Given the description of an element on the screen output the (x, y) to click on. 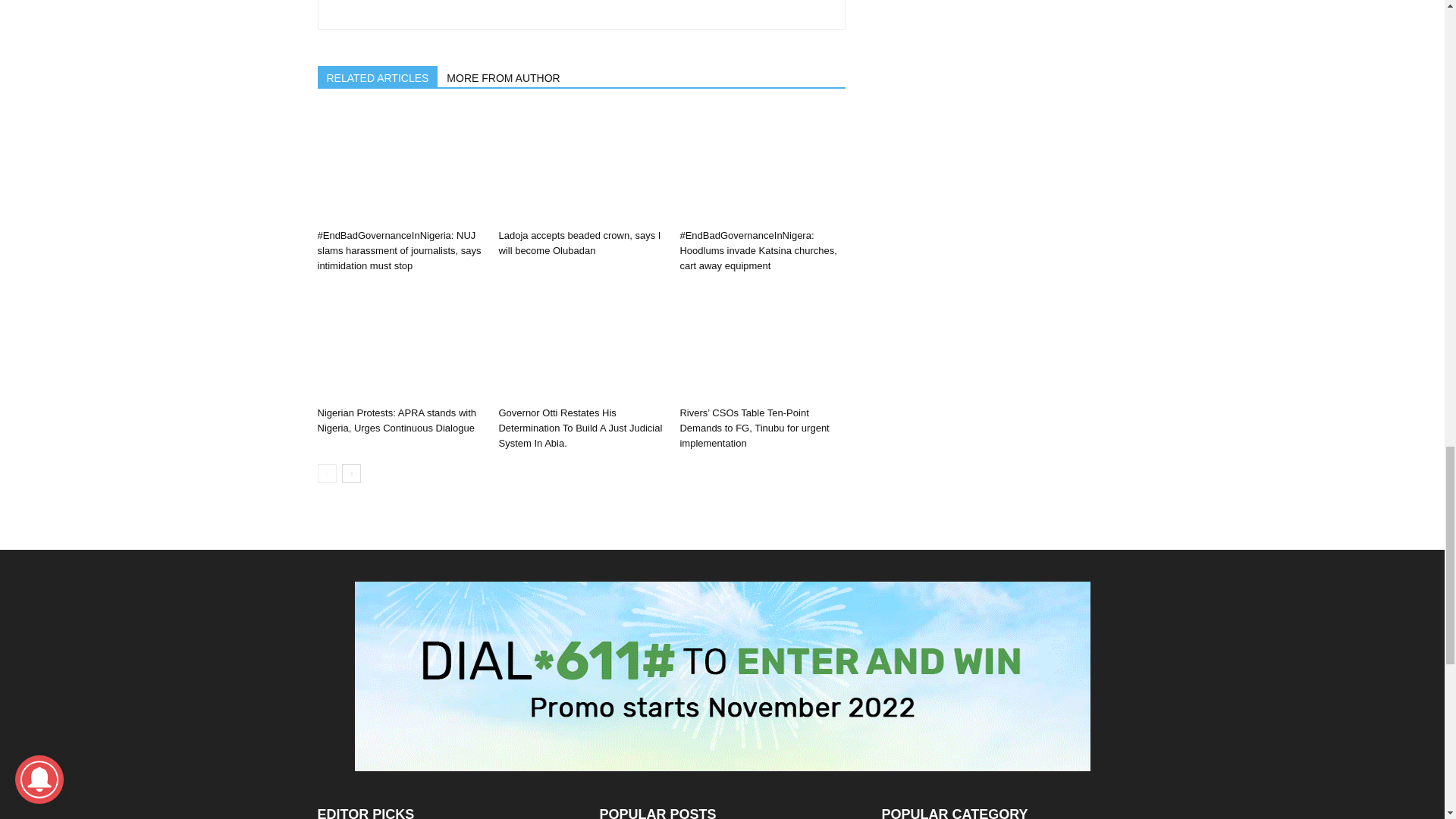
Ladoja accepts beaded crown, says I will become Olubadan (579, 243)
Ladoja accepts beaded crown, says I will become Olubadan (580, 165)
